Given the description of an element on the screen output the (x, y) to click on. 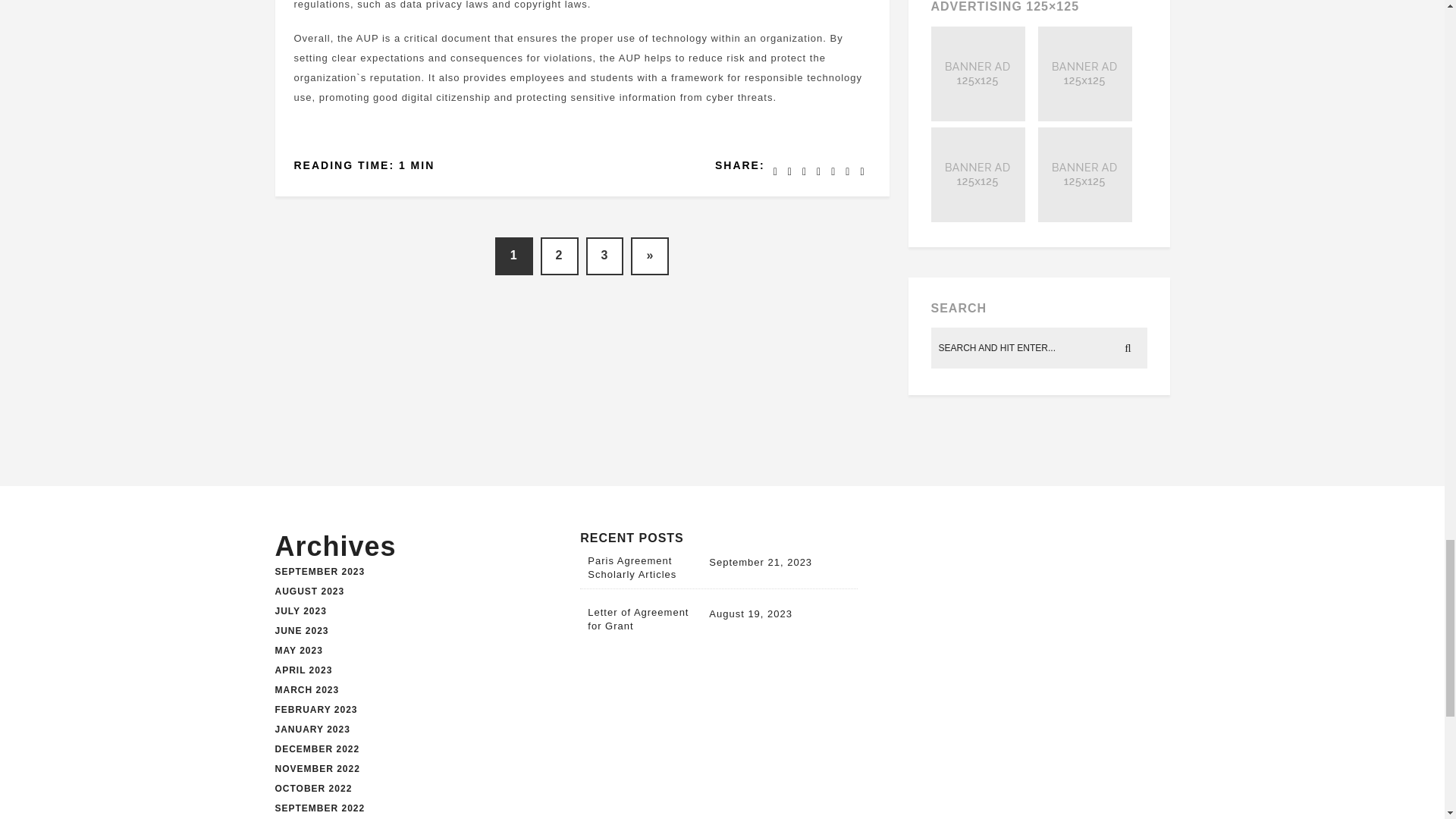
Search and hit enter... (1039, 347)
3 (604, 256)
2 (559, 256)
